Given the description of an element on the screen output the (x, y) to click on. 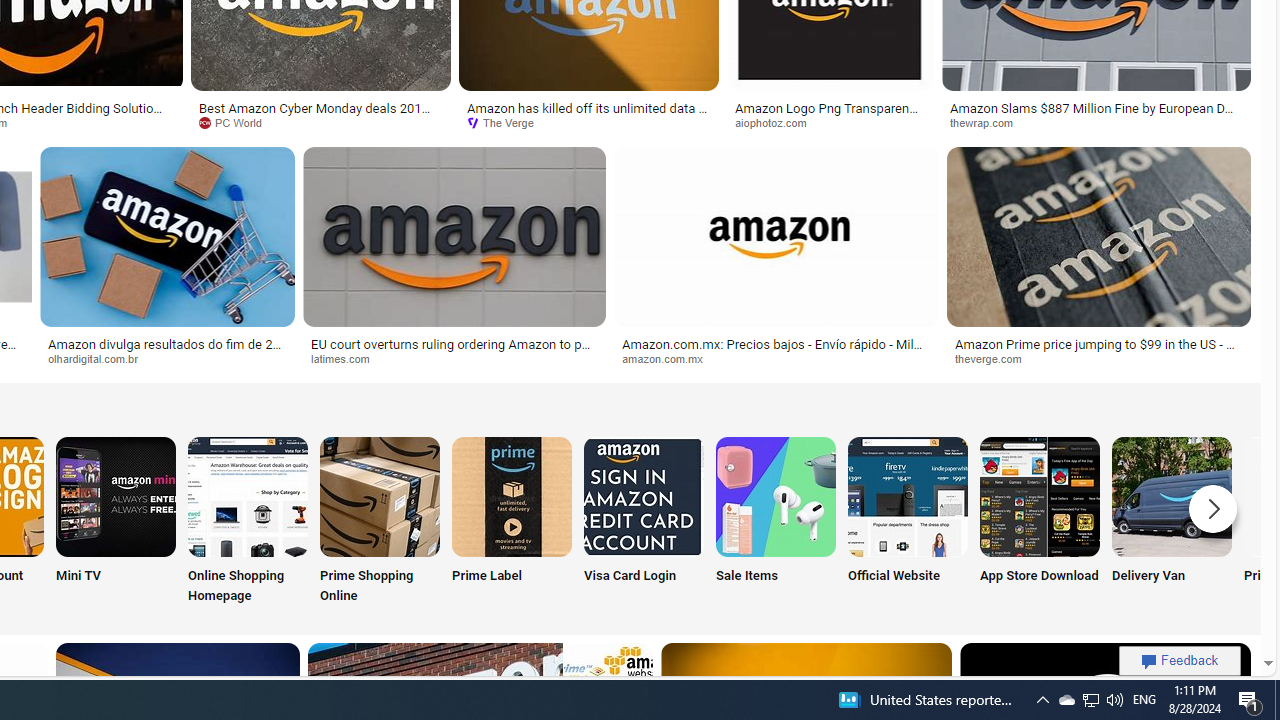
theverge.com (994, 358)
The Verge (507, 121)
Amazon Official Website Official Website (907, 521)
Amazon Visa Card Login Visa Card Login (643, 521)
Amazon Mini TV (116, 496)
Amazon Prime Shopping Online Prime Shopping Online (380, 521)
Online Shopping Homepage (248, 521)
aiophotoz.com (829, 123)
Mini TV (116, 521)
theverge.com (1098, 359)
